Given the description of an element on the screen output the (x, y) to click on. 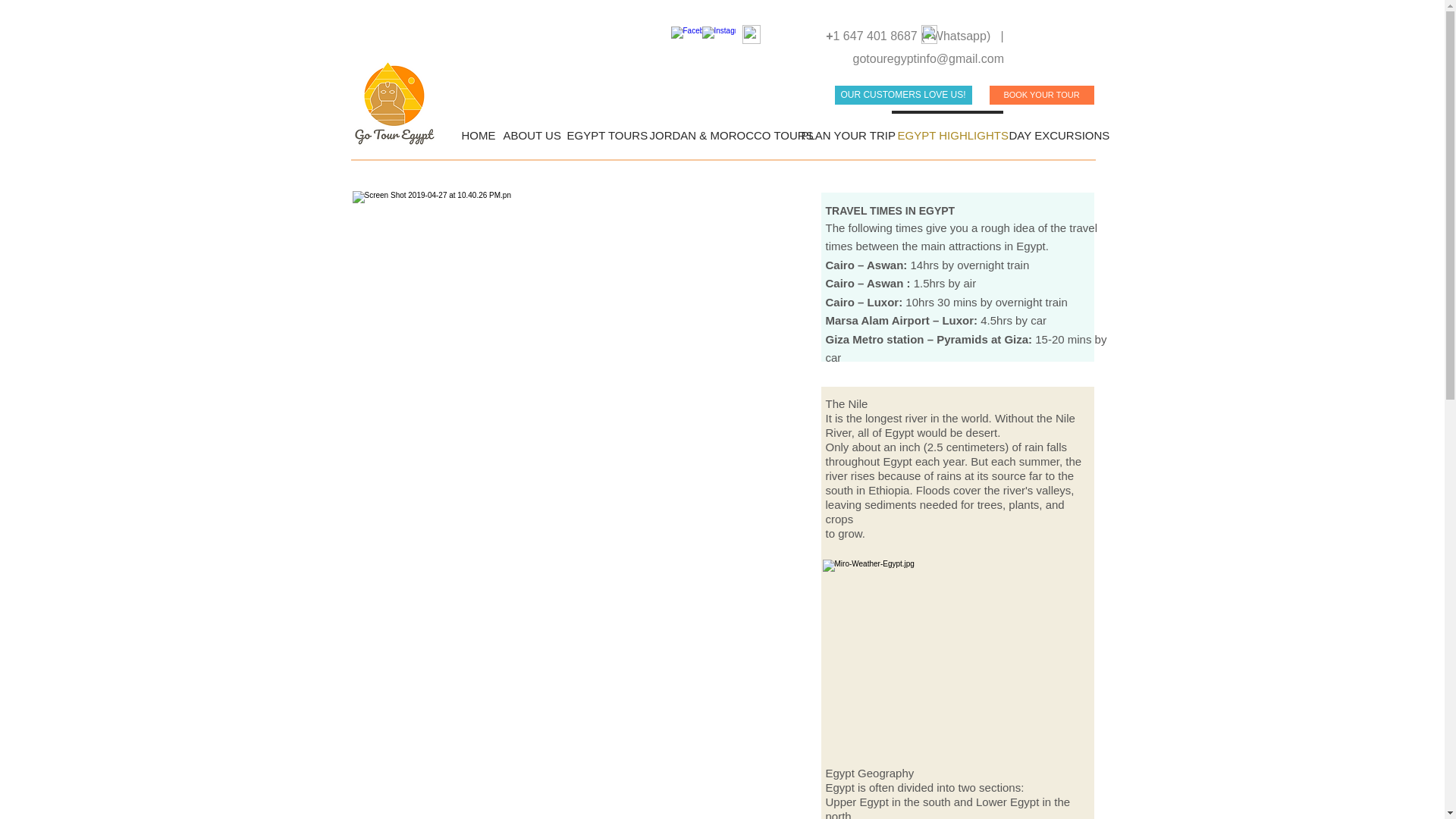
EGYPT TOURS (601, 128)
OUR CUSTOMERS LOVE US! (902, 94)
ABOUT US (528, 128)
EGYPT HIGHLIGHTS (947, 128)
HOME (475, 128)
PLAN YOUR TRIP (842, 128)
DAY EXCURSIONS (1052, 128)
